Given the description of an element on the screen output the (x, y) to click on. 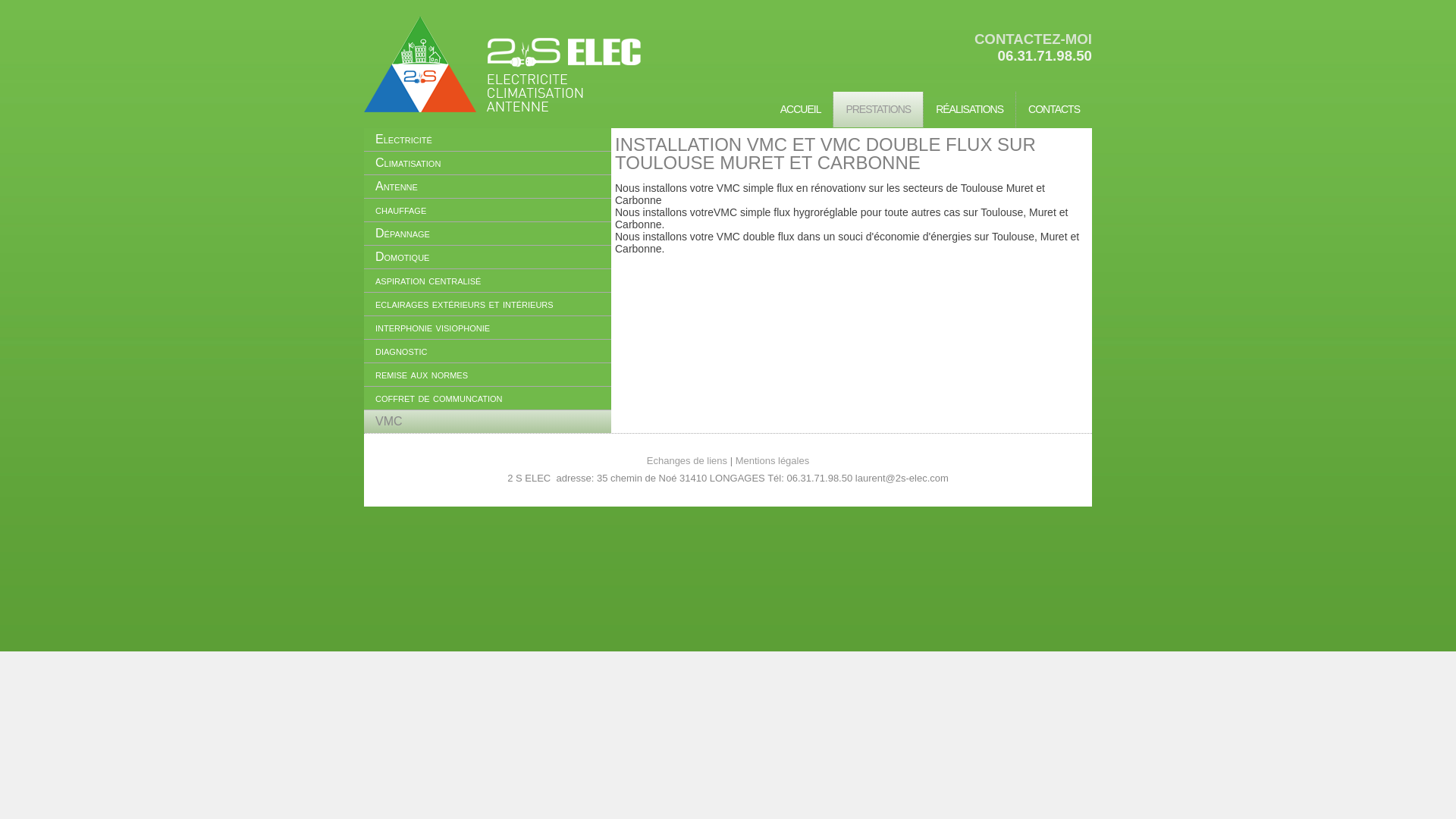
coffret de communcation Element type: text (487, 397)
Climatisation Element type: text (487, 162)
diagnostic Element type: text (487, 350)
PRESTATIONS Element type: text (877, 109)
chauffage Element type: text (487, 209)
Domotique Element type: text (487, 256)
VMC Element type: text (487, 421)
Antenne Element type: text (487, 186)
ACCUEIL Element type: text (800, 109)
Echanges de liens Element type: text (686, 460)
interphonie visiophonie Element type: text (487, 327)
CONTACTS Element type: text (1054, 109)
remise aux normes Element type: text (487, 374)
